Given the description of an element on the screen output the (x, y) to click on. 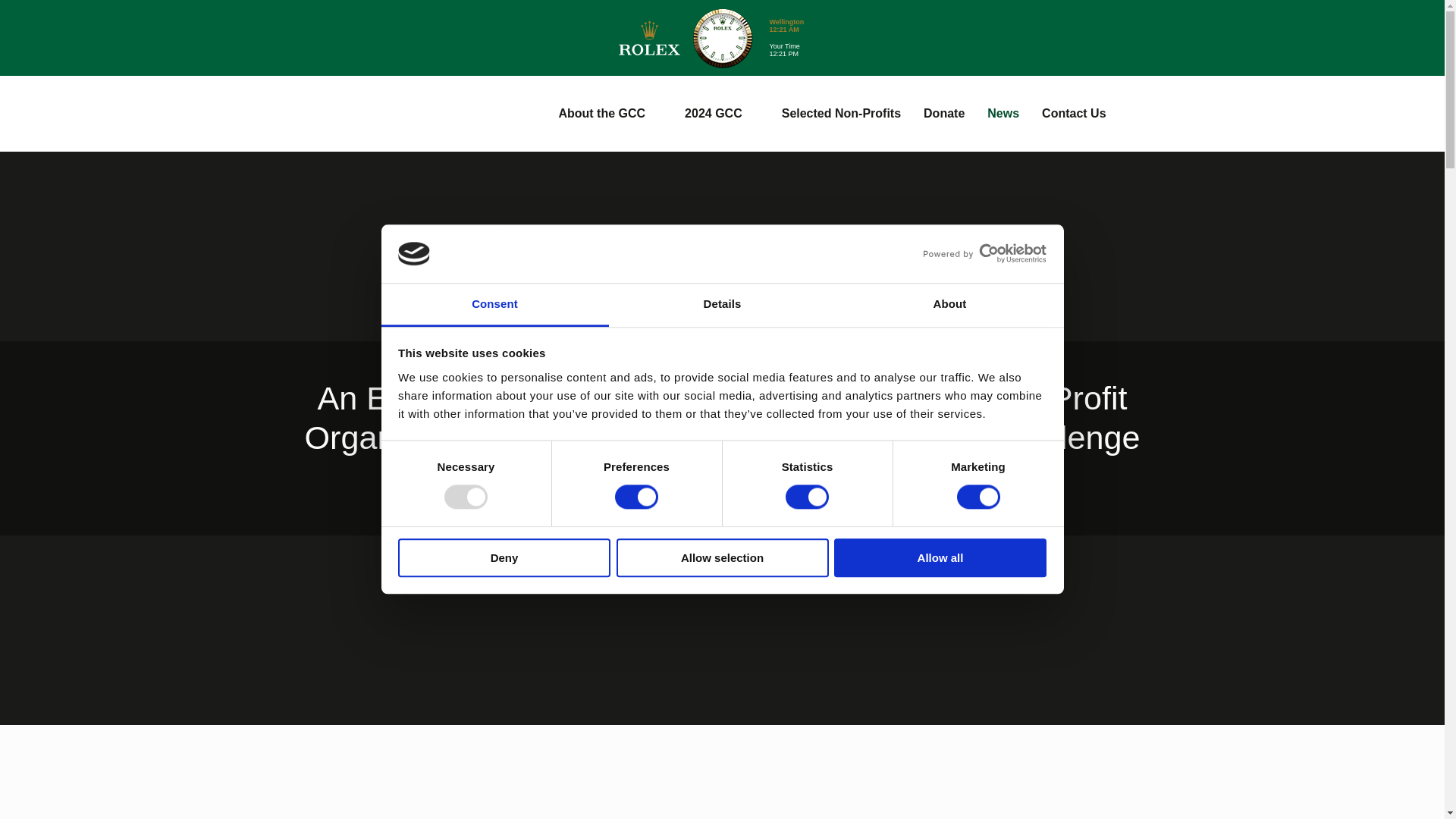
About the GCC (609, 113)
Deny (503, 557)
Details (721, 304)
About (948, 304)
2024 GCC (721, 113)
About the GCC (609, 113)
Consent (494, 304)
Allow selection (721, 557)
Allow all (940, 557)
